Given the description of an element on the screen output the (x, y) to click on. 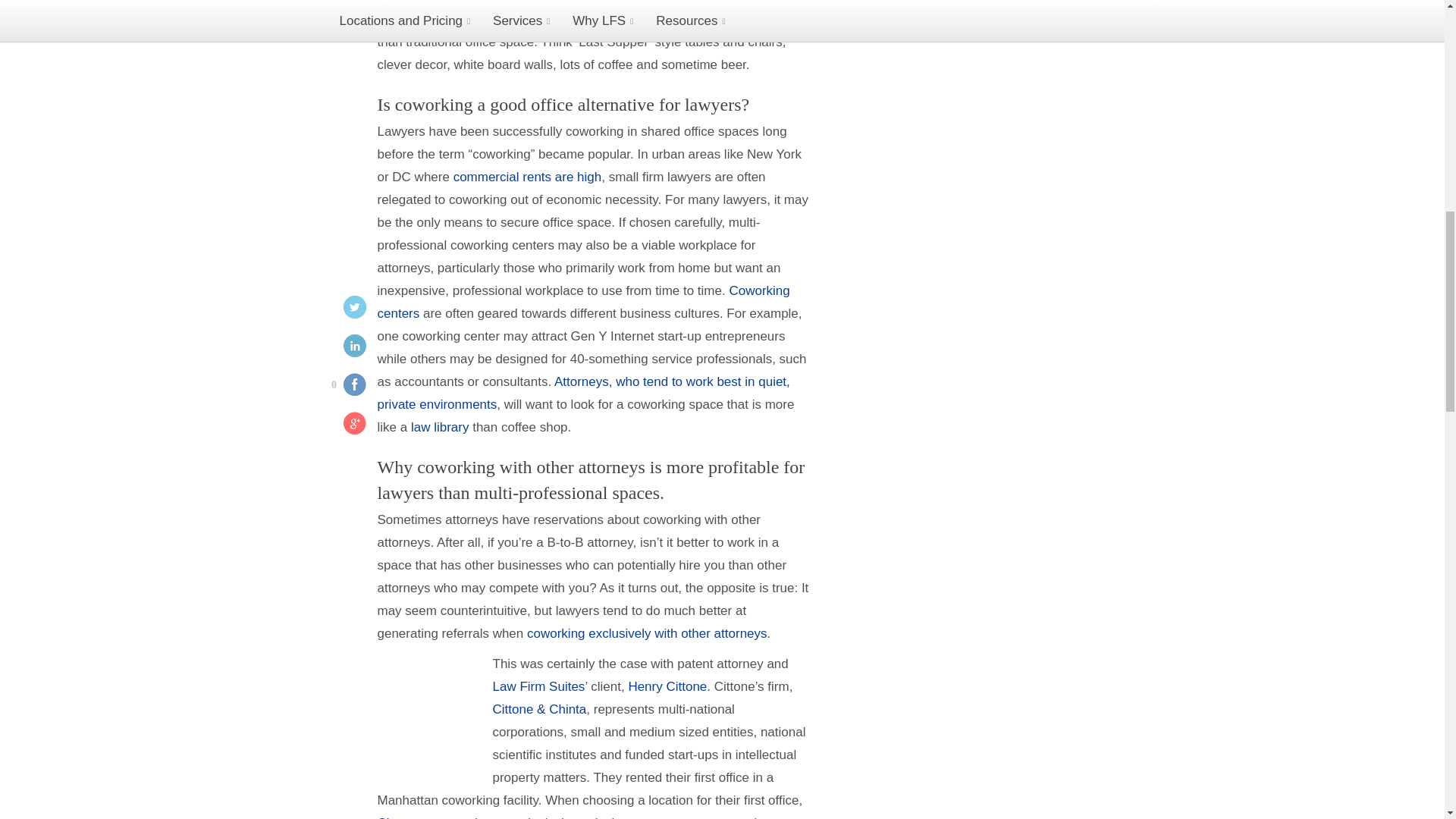
Working Law Office (439, 427)
Henry J. Cittone (666, 686)
Henry J. Cittone (398, 817)
Exclusive Lawyers (583, 392)
Exclusive Lawyers (647, 633)
